Given the description of an element on the screen output the (x, y) to click on. 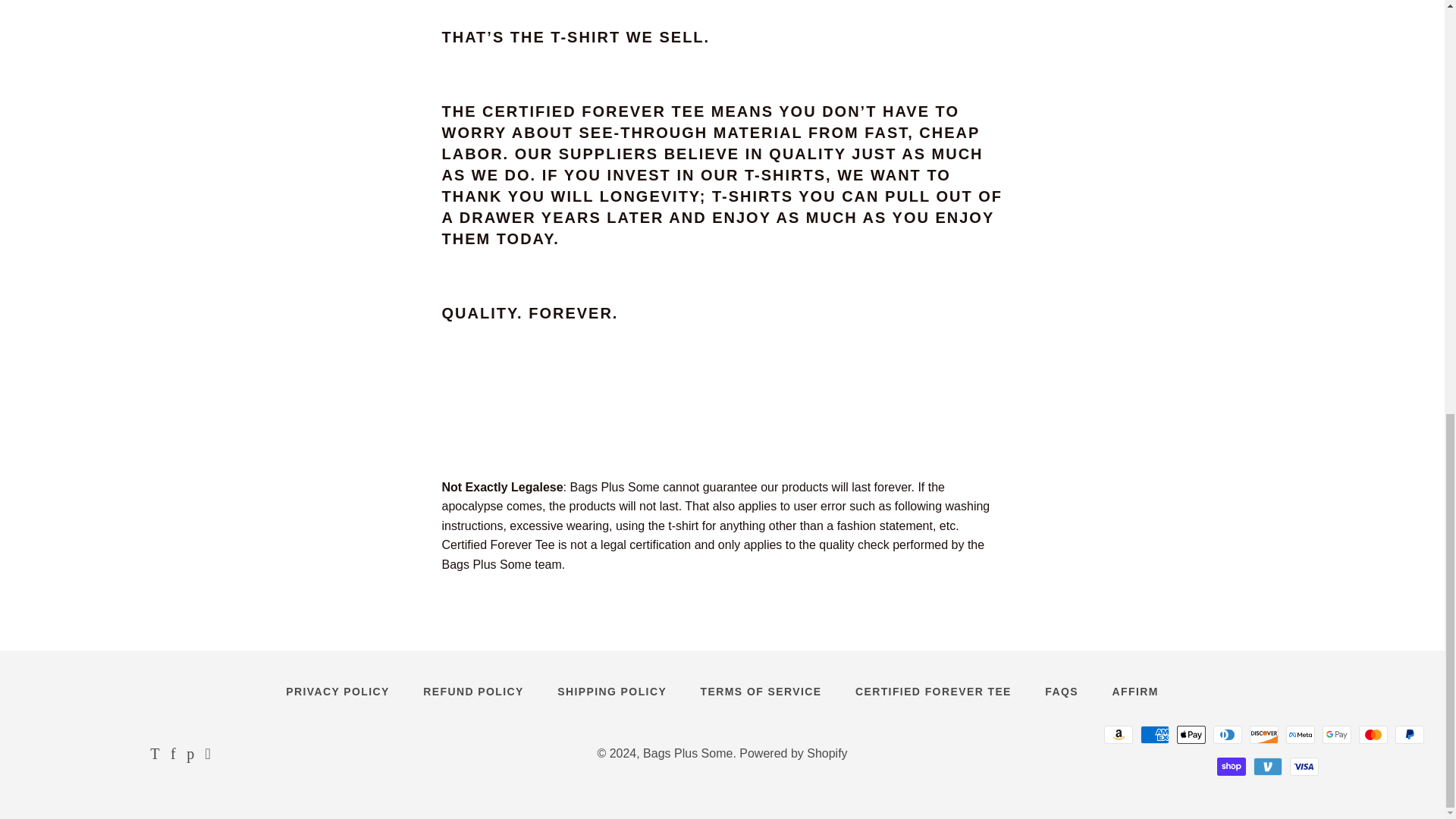
Mastercard (1372, 734)
Visa (1304, 766)
Apple Pay (1190, 734)
Discover (1263, 734)
American Express (1154, 734)
Bags Plus Some on Twitter (153, 754)
Venmo (1267, 766)
Amazon (1117, 734)
Diners Club (1226, 734)
Meta Pay (1299, 734)
Bags Plus Some on Facebook (173, 754)
Shop Pay (1231, 766)
Bags Plus Some on Instagram (208, 754)
PayPal (1408, 734)
Bags Plus Some on Pinterest (189, 754)
